Given the description of an element on the screen output the (x, y) to click on. 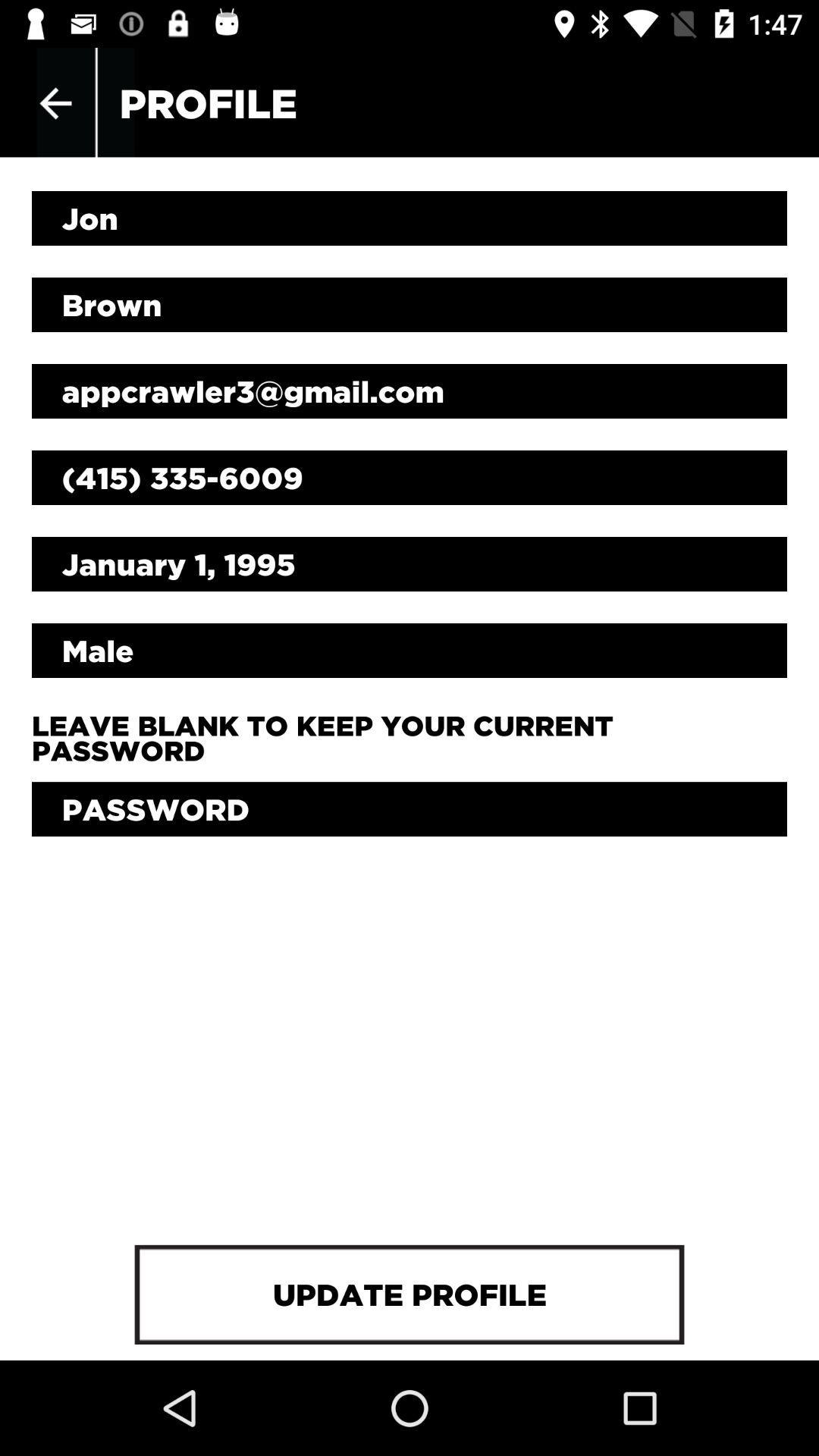
click the brown item (409, 304)
